Given the description of an element on the screen output the (x, y) to click on. 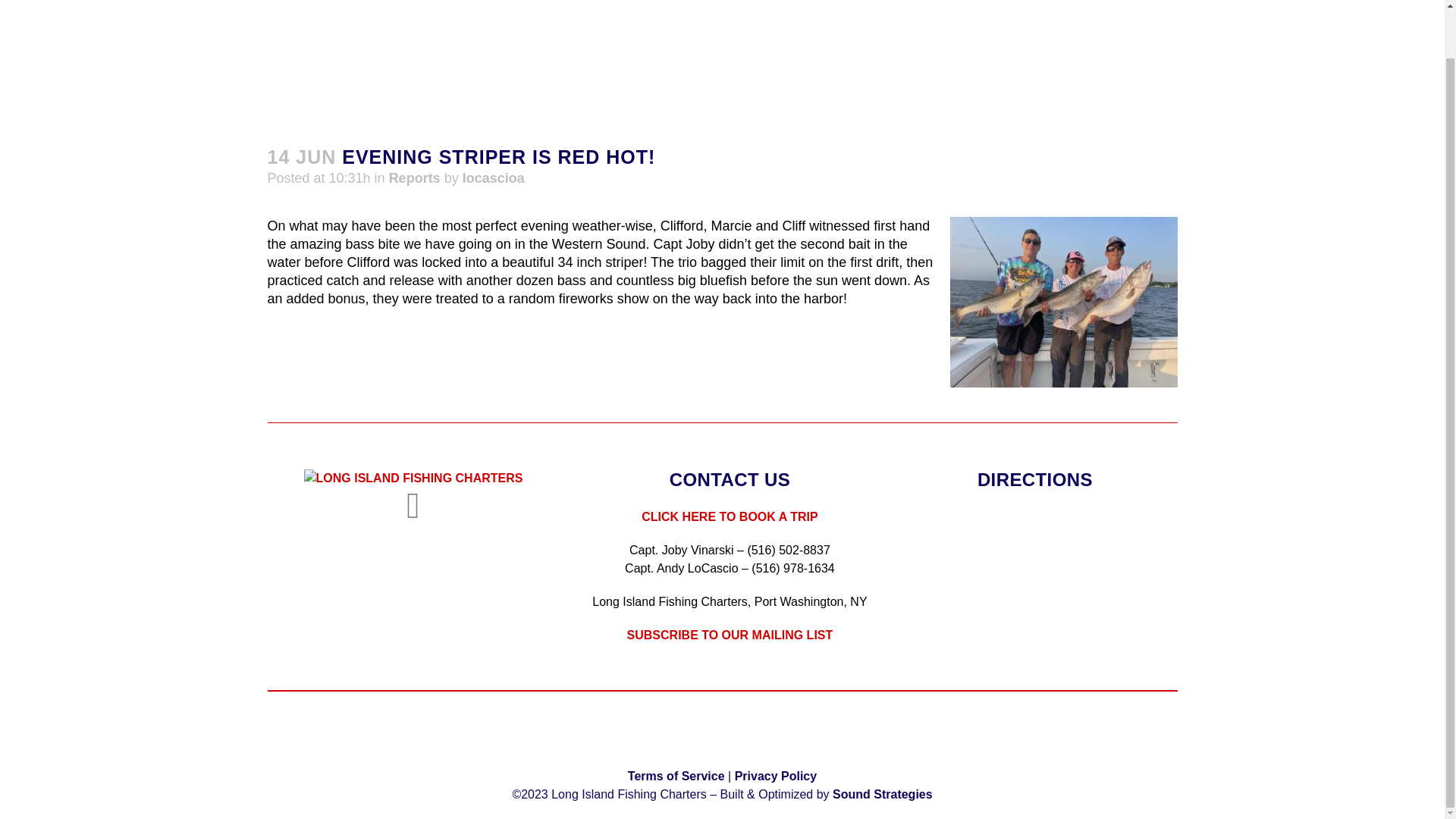
Privacy Policy (775, 775)
OUR BOATS (695, 41)
THE CAPTAINS (879, 41)
locascioa (493, 177)
SUBSCRIBE TO OUR MAILING LIST (729, 634)
RESOURCES (1241, 41)
LESSONS (1140, 41)
CLICK HERE TO BOOK A TRIP (729, 516)
Terms of Service (676, 775)
Sound Strategies (882, 793)
